Given the description of an element on the screen output the (x, y) to click on. 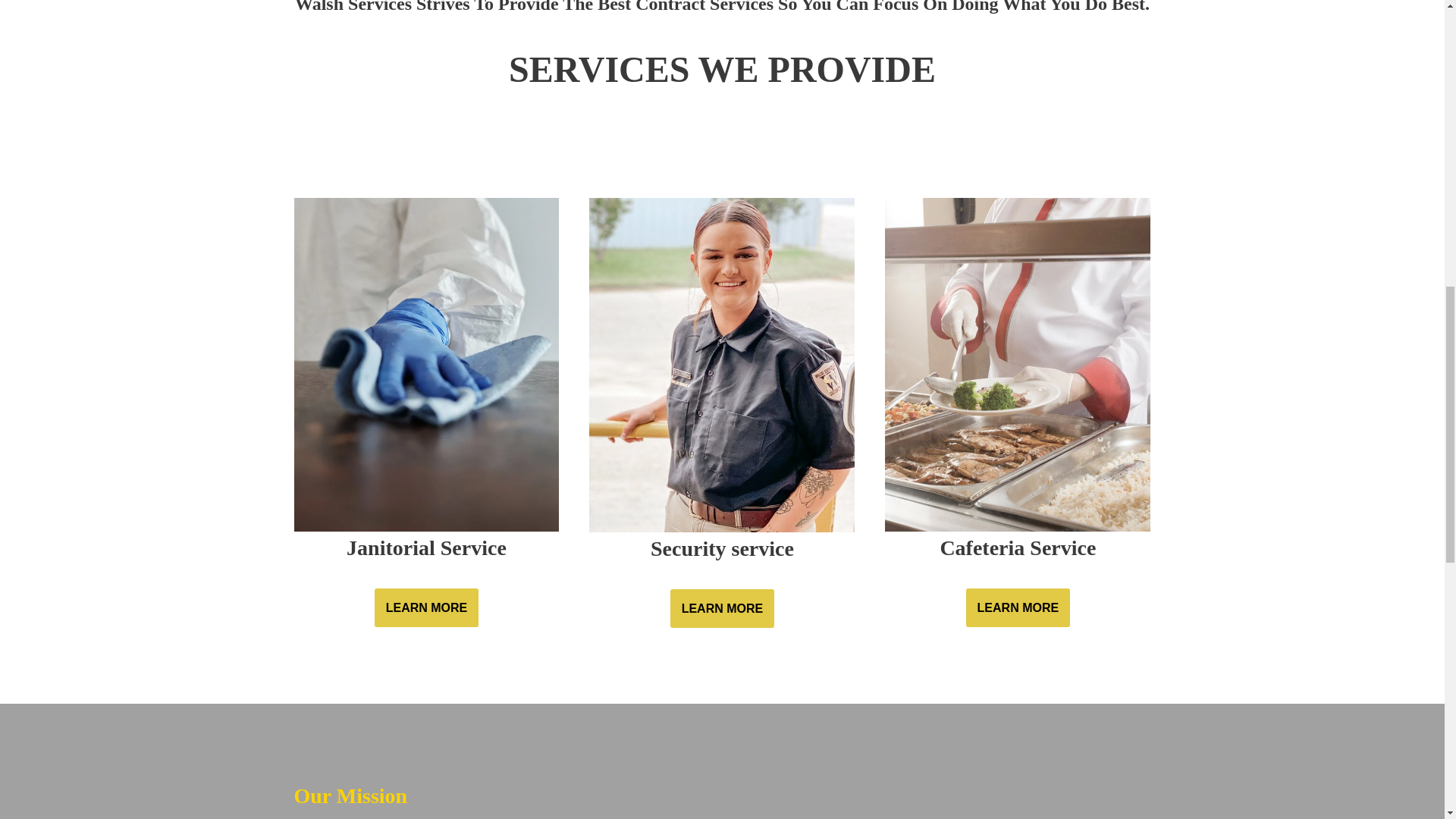
LEARN MORE (1018, 608)
LEARN MORE (721, 608)
LEARN MORE (426, 608)
